Given the description of an element on the screen output the (x, y) to click on. 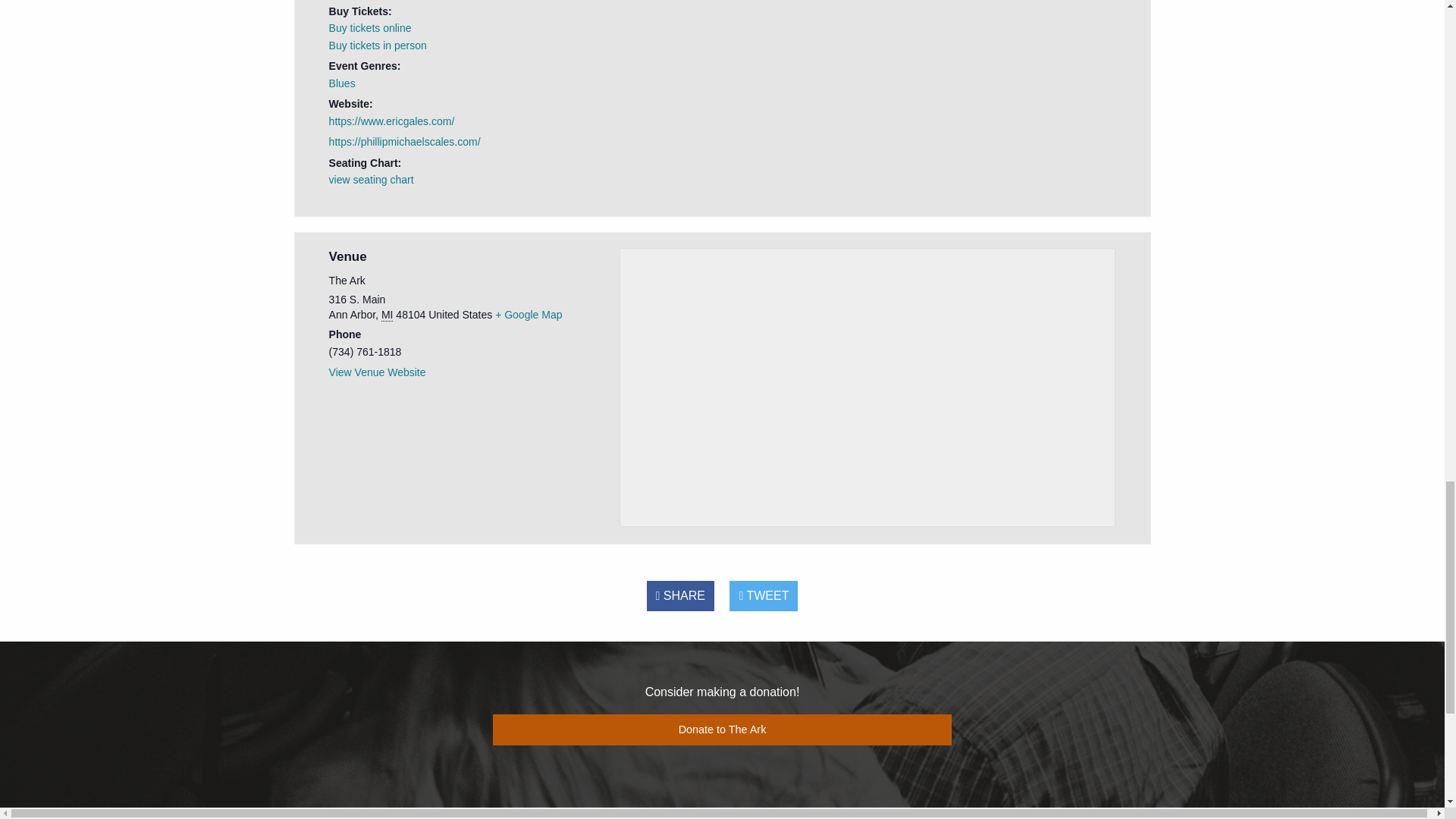
Click to view a Google Map (528, 314)
Michigan (387, 314)
Google maps iframe displaying the address to The Ark (867, 384)
